Given the description of an element on the screen output the (x, y) to click on. 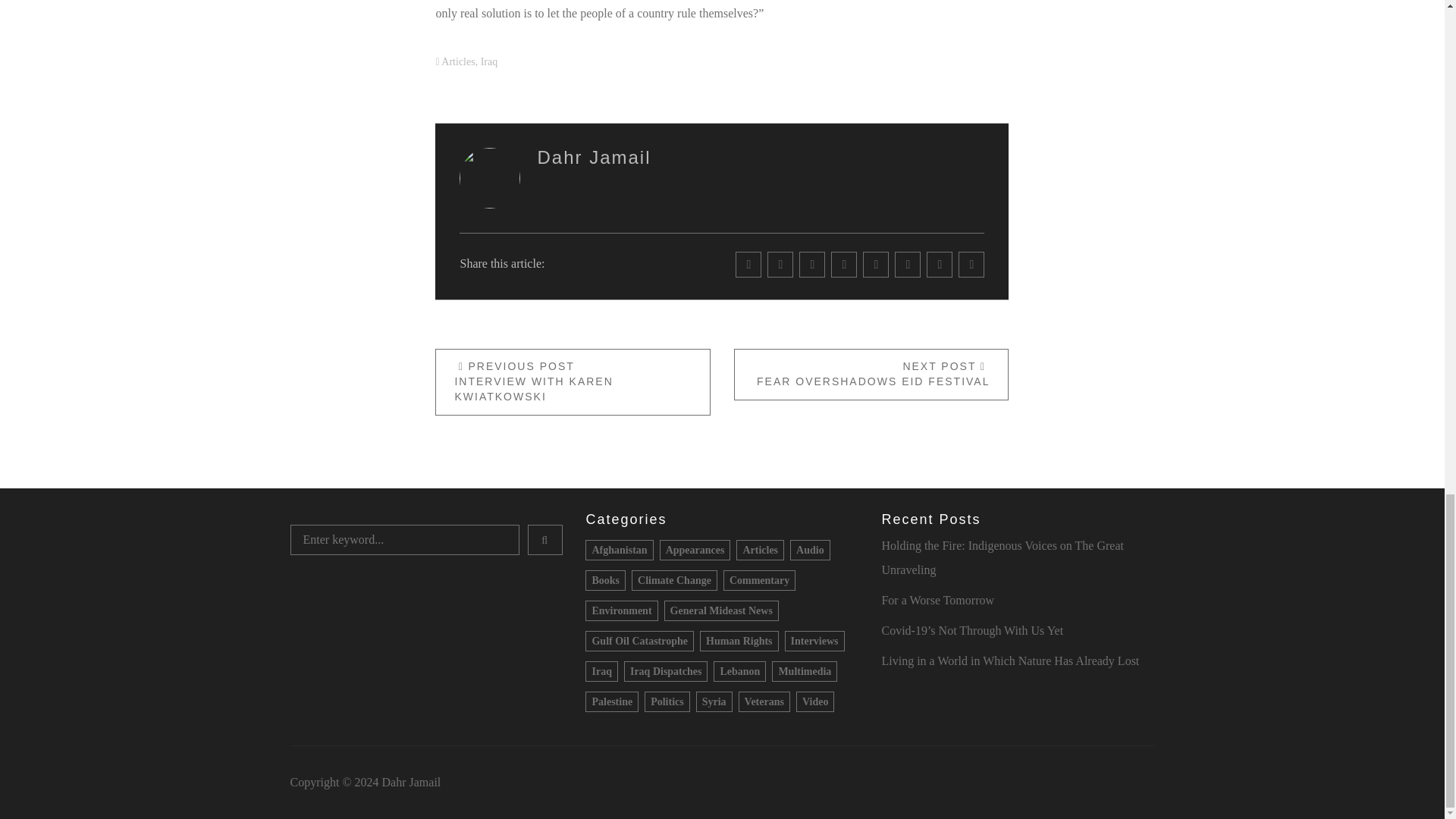
Afghanistan (618, 549)
Appearances (694, 549)
Iraq Dispatches (665, 670)
Dahr Jamail (593, 157)
Interviews (814, 640)
Climate Change (674, 580)
Audio (809, 549)
Articles (871, 374)
Posts by Dahr Jamail (457, 61)
Gulf Oil Catastrophe (593, 157)
Articles (639, 640)
Commentary (760, 549)
Iraq (572, 381)
